Given the description of an element on the screen output the (x, y) to click on. 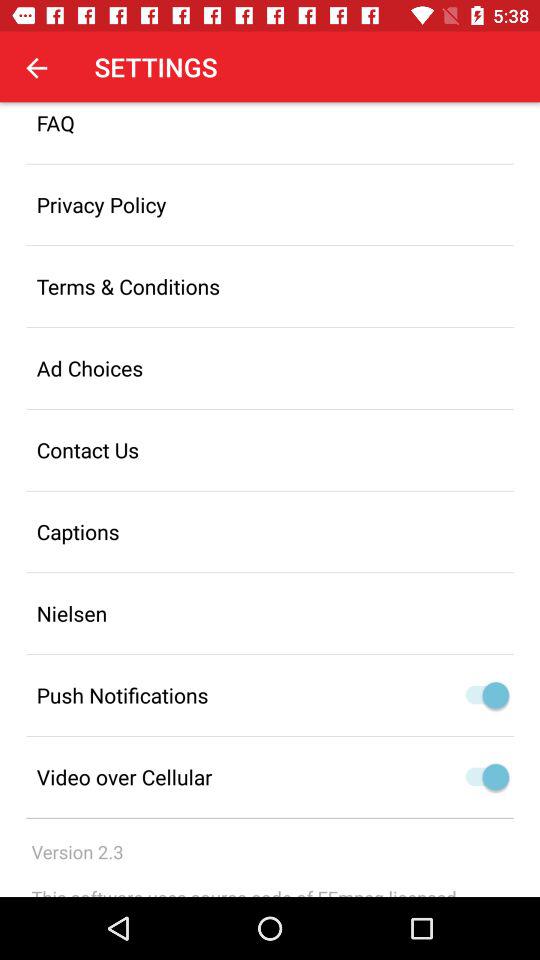
switch off the video over cellular option (482, 777)
